Given the description of an element on the screen output the (x, y) to click on. 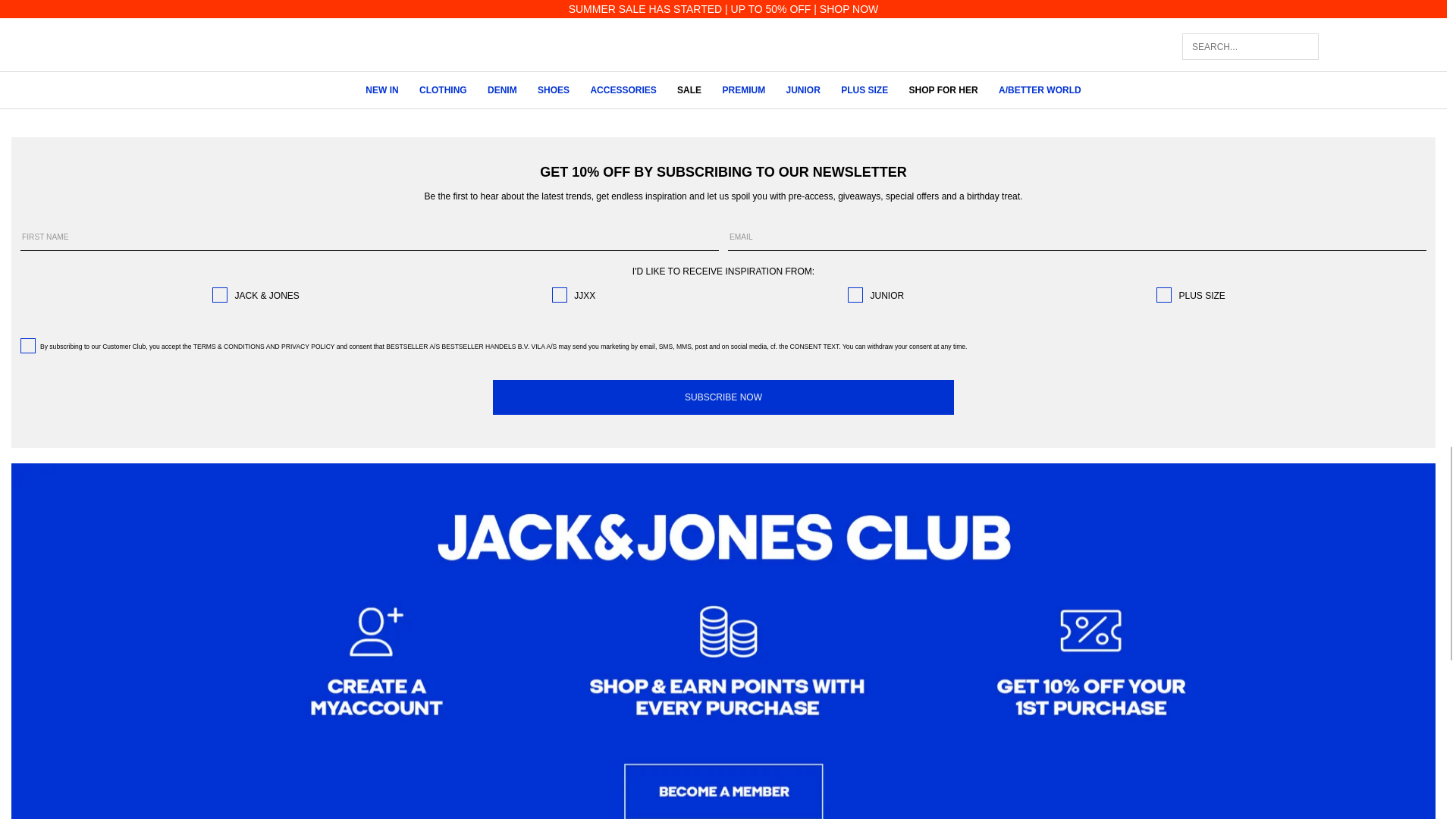
on (855, 294)
on (27, 345)
on (559, 294)
on (219, 294)
on (1164, 294)
